Given the description of an element on the screen output the (x, y) to click on. 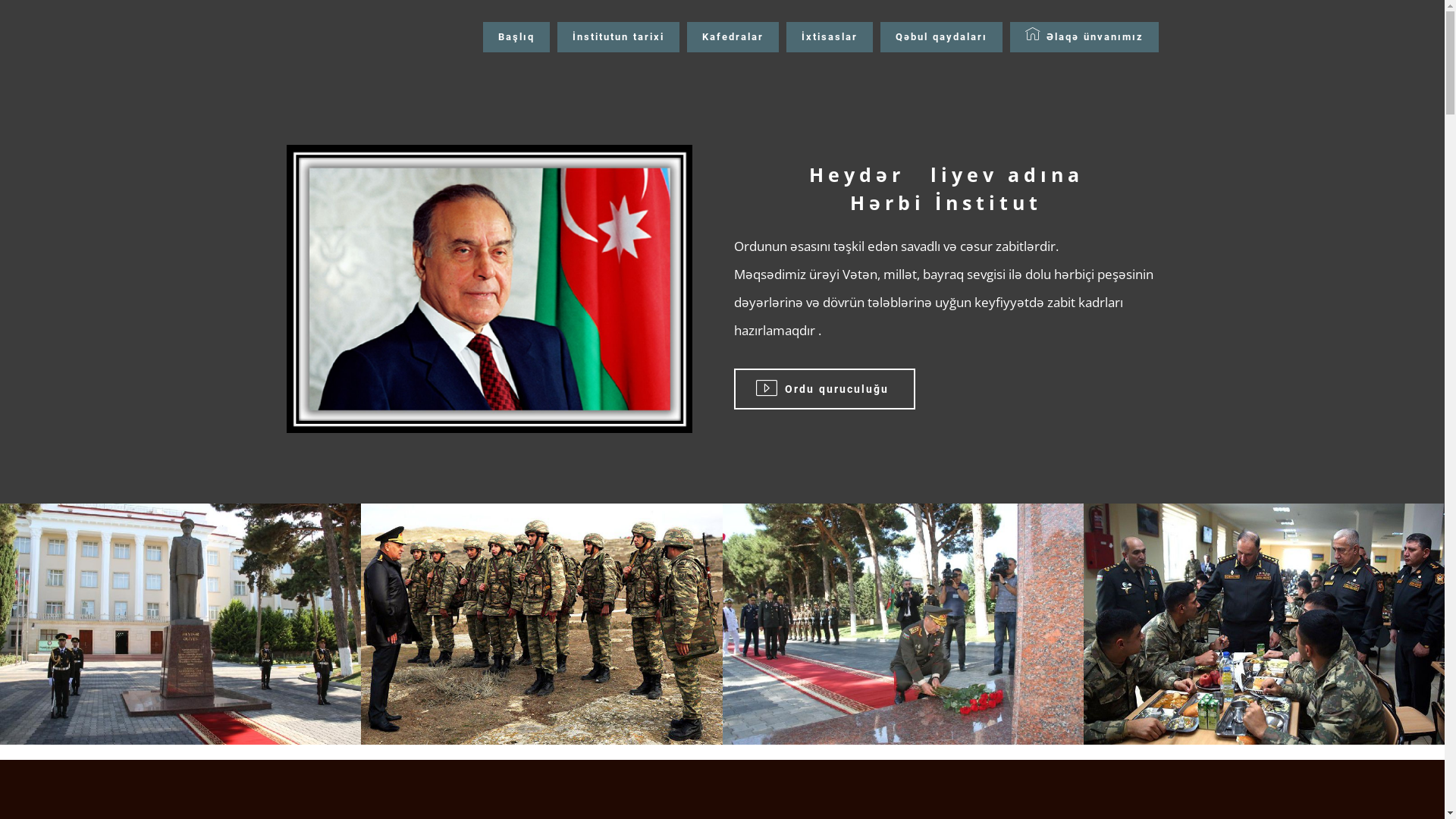
Kafedralar Element type: text (732, 37)
